Given the description of an element on the screen output the (x, y) to click on. 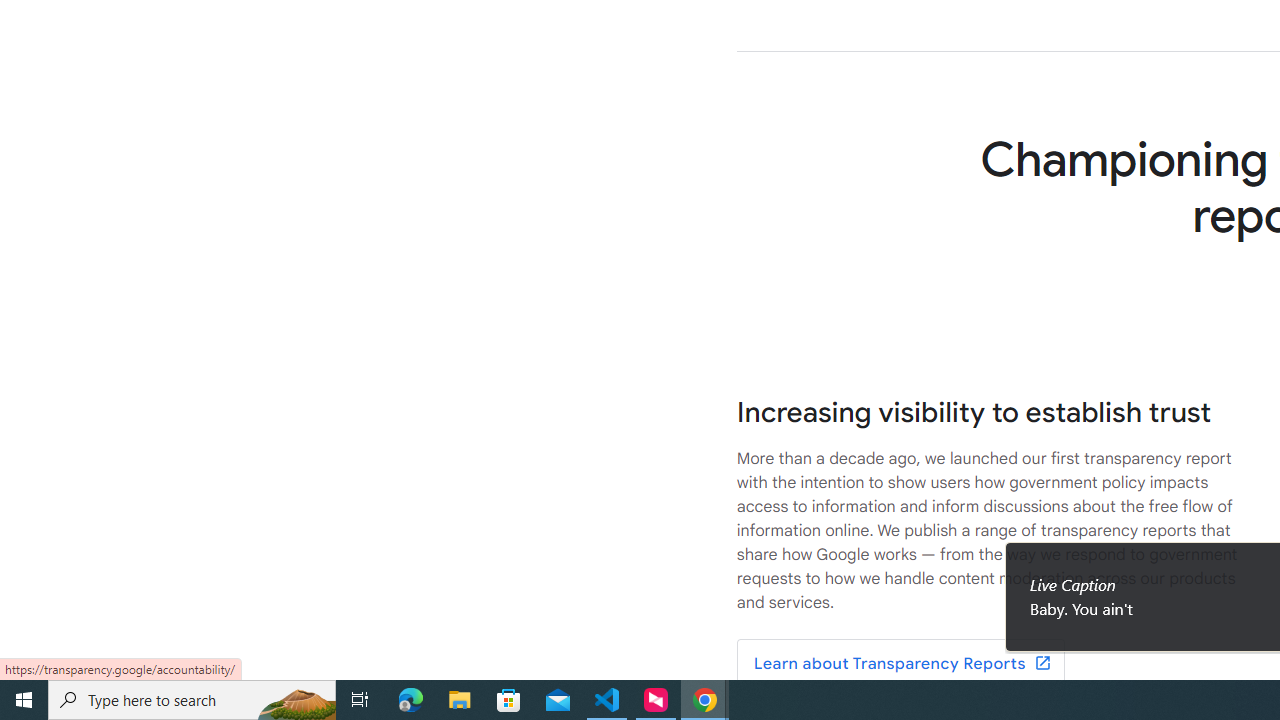
Go to Transparency Report About web page (900, 664)
